Given the description of an element on the screen output the (x, y) to click on. 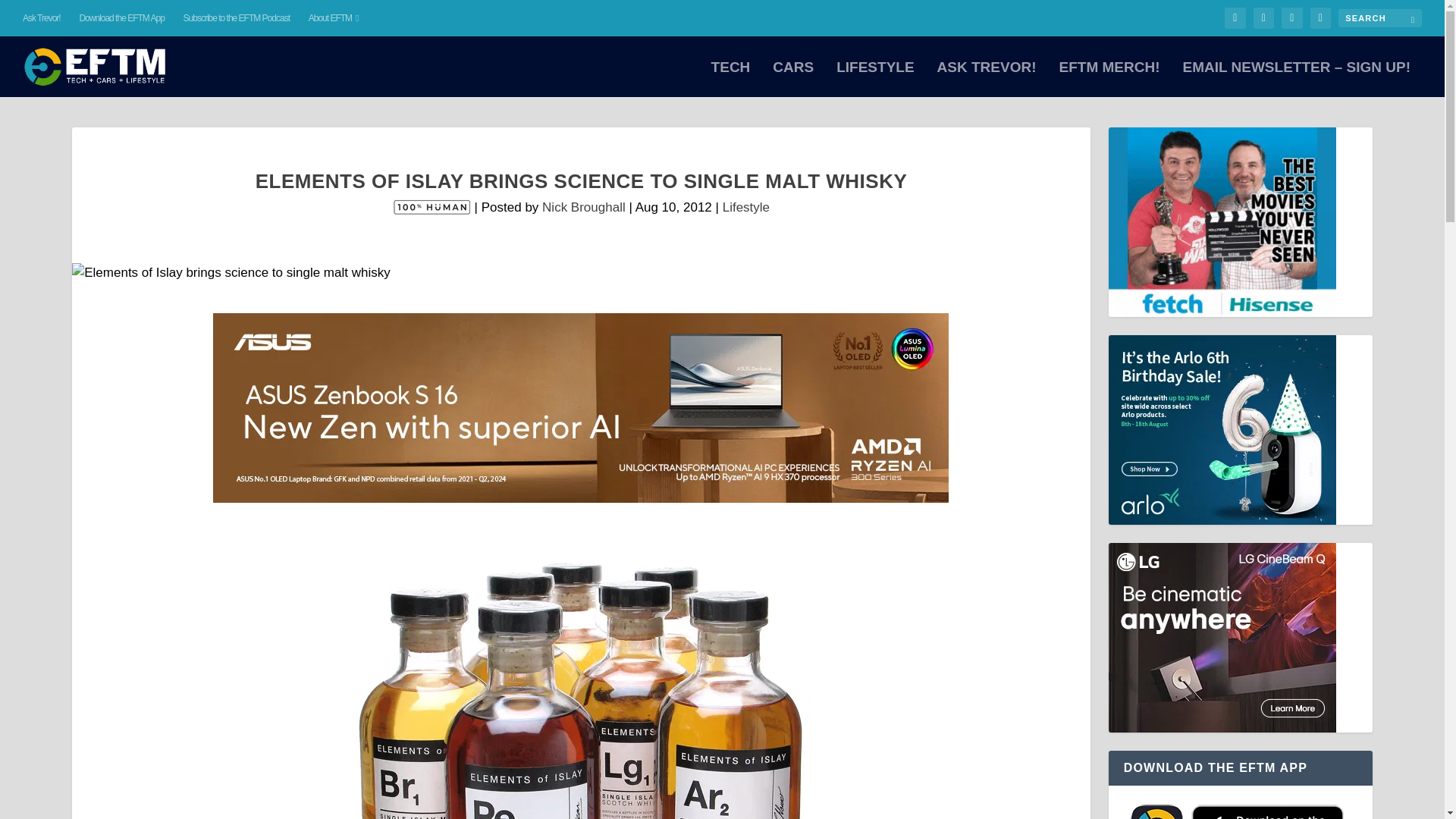
CARS (793, 79)
Ask Trevor! (42, 18)
Subscribe to the EFTM Podcast (236, 18)
Search for: (1380, 18)
TECH (731, 79)
Posts by Nick Broughall (583, 206)
ASK TREVOR! (986, 79)
About EFTM (333, 18)
LIFESTYLE (874, 79)
EFTM MERCH! (1108, 79)
